Given the description of an element on the screen output the (x, y) to click on. 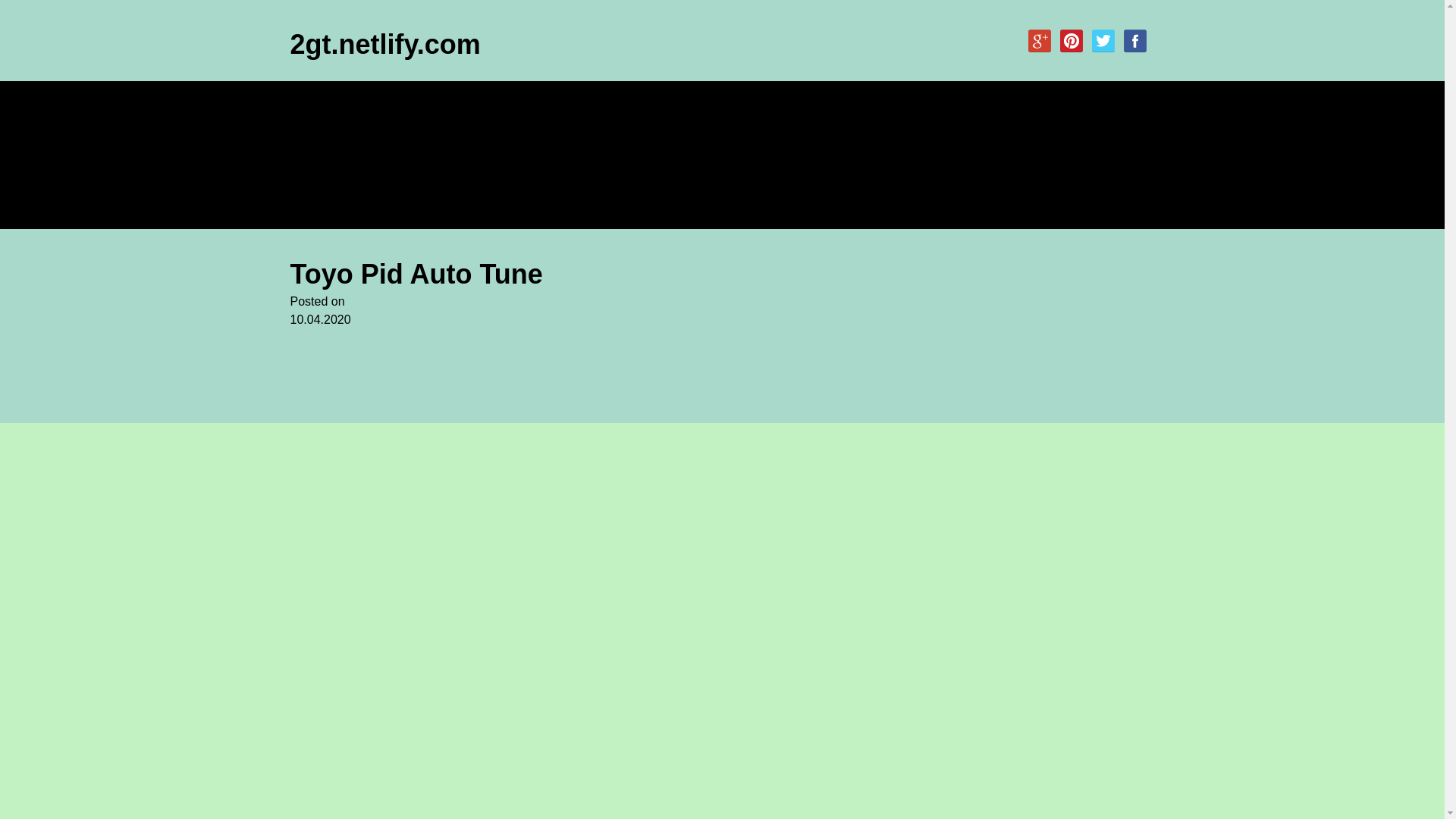
2gt.netlify.com (384, 43)
11:01 (574, 329)
Home (317, 101)
10.04.2020 (574, 329)
2gt.netlify.com (384, 43)
